Given the description of an element on the screen output the (x, y) to click on. 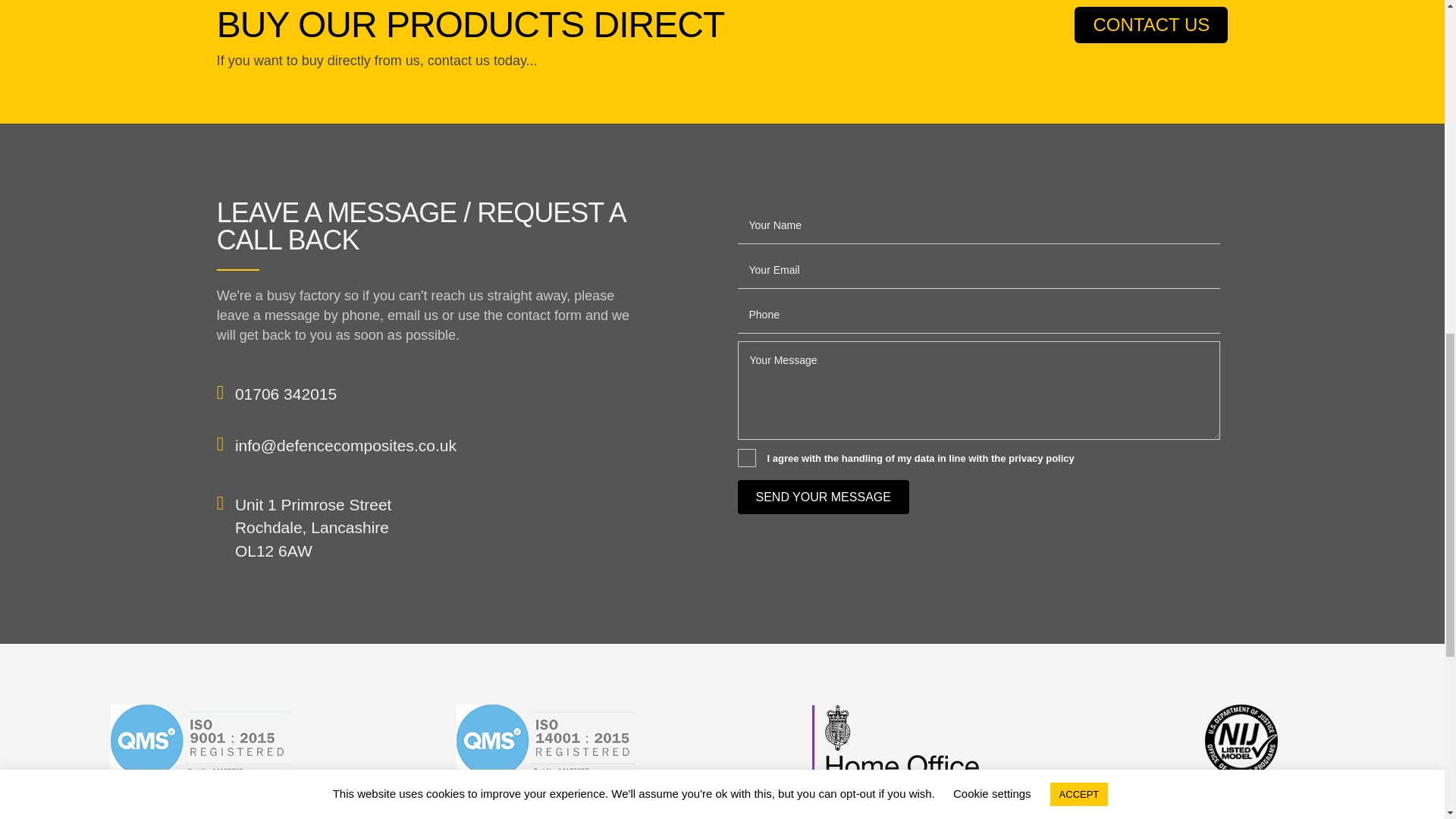
ISO 9001 (203, 740)
ISO 14001 (549, 740)
NIJ listed model (1240, 740)
Home Office (895, 740)
